Given the description of an element on the screen output the (x, y) to click on. 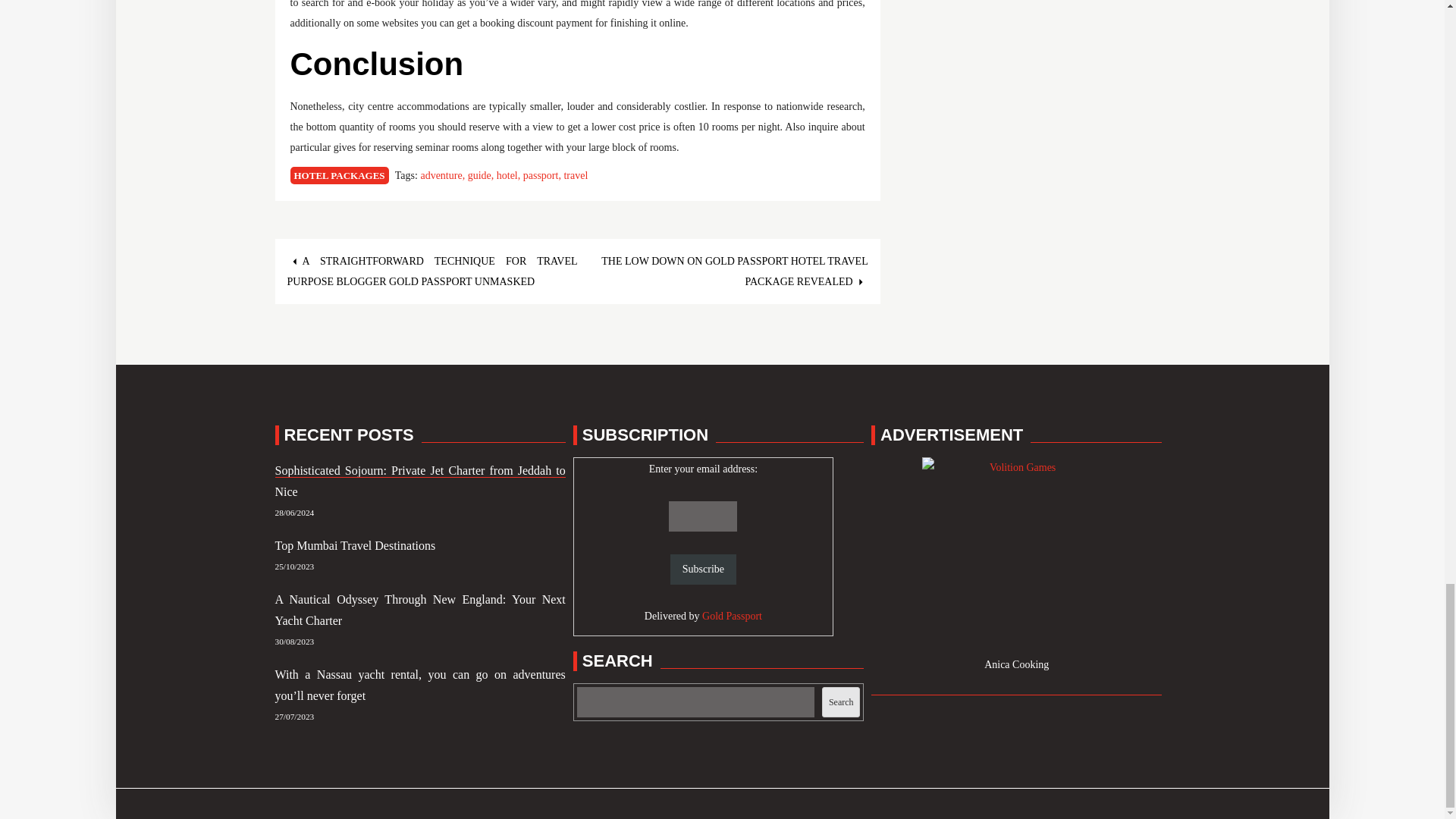
THE LOW DOWN ON GOLD PASSPORT HOTEL TRAVEL PACKAGE REVEALED (734, 271)
HOTEL PACKAGES (338, 175)
travel (575, 174)
Volition Games (1016, 552)
hotel (509, 174)
passport (543, 174)
adventure (443, 174)
Subscribe (702, 569)
guide (481, 174)
